Given the description of an element on the screen output the (x, y) to click on. 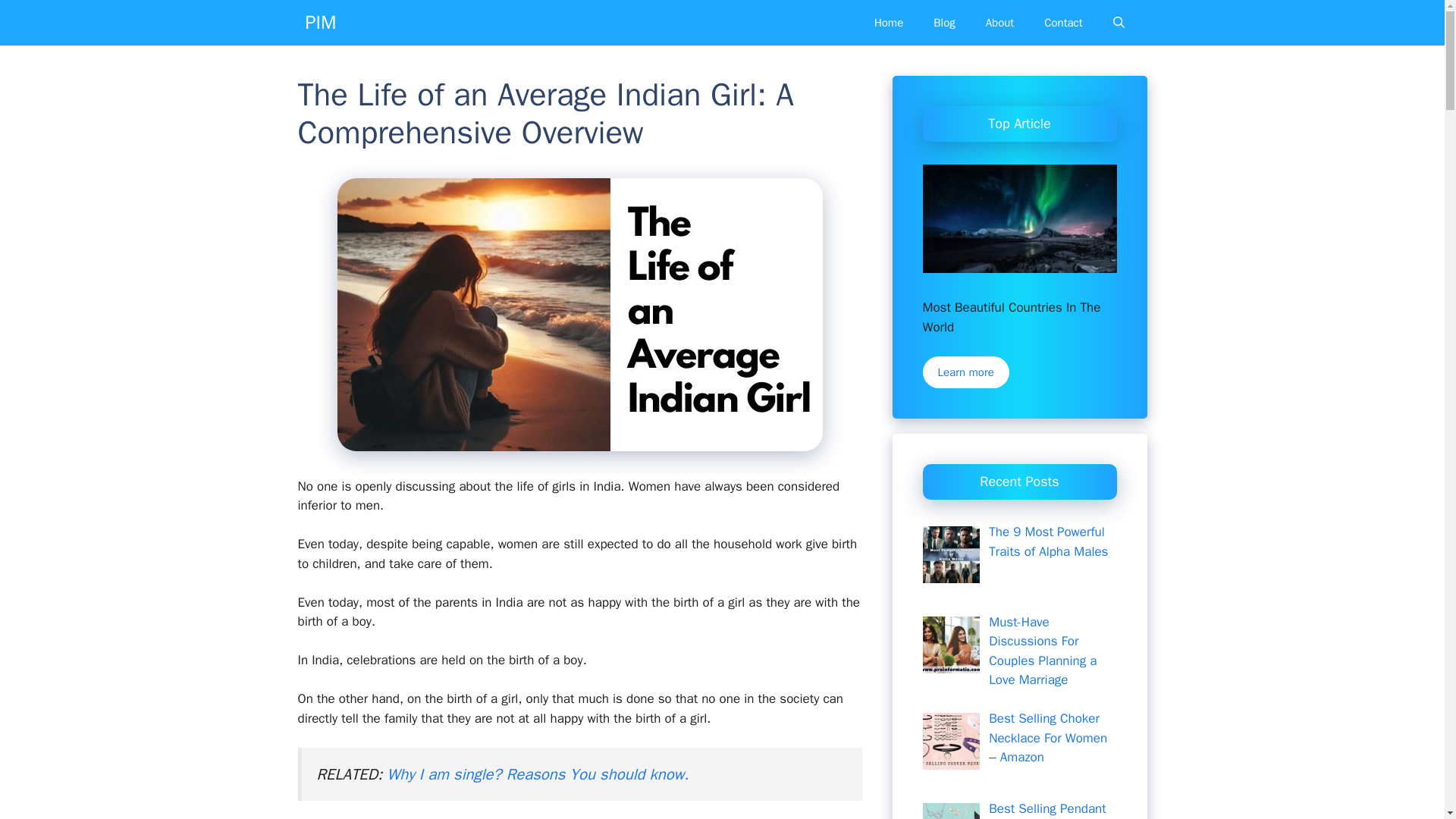
Must-Have Discussions For Couples Planning a Love Marriage (1042, 651)
Learn more (965, 372)
Home (888, 22)
Why I am single? Reasons You should know. (537, 773)
The 9 Most Powerful Traits of Alpha Males (1048, 541)
Blog (943, 22)
Contact (1063, 22)
About (1000, 22)
